Given the description of an element on the screen output the (x, y) to click on. 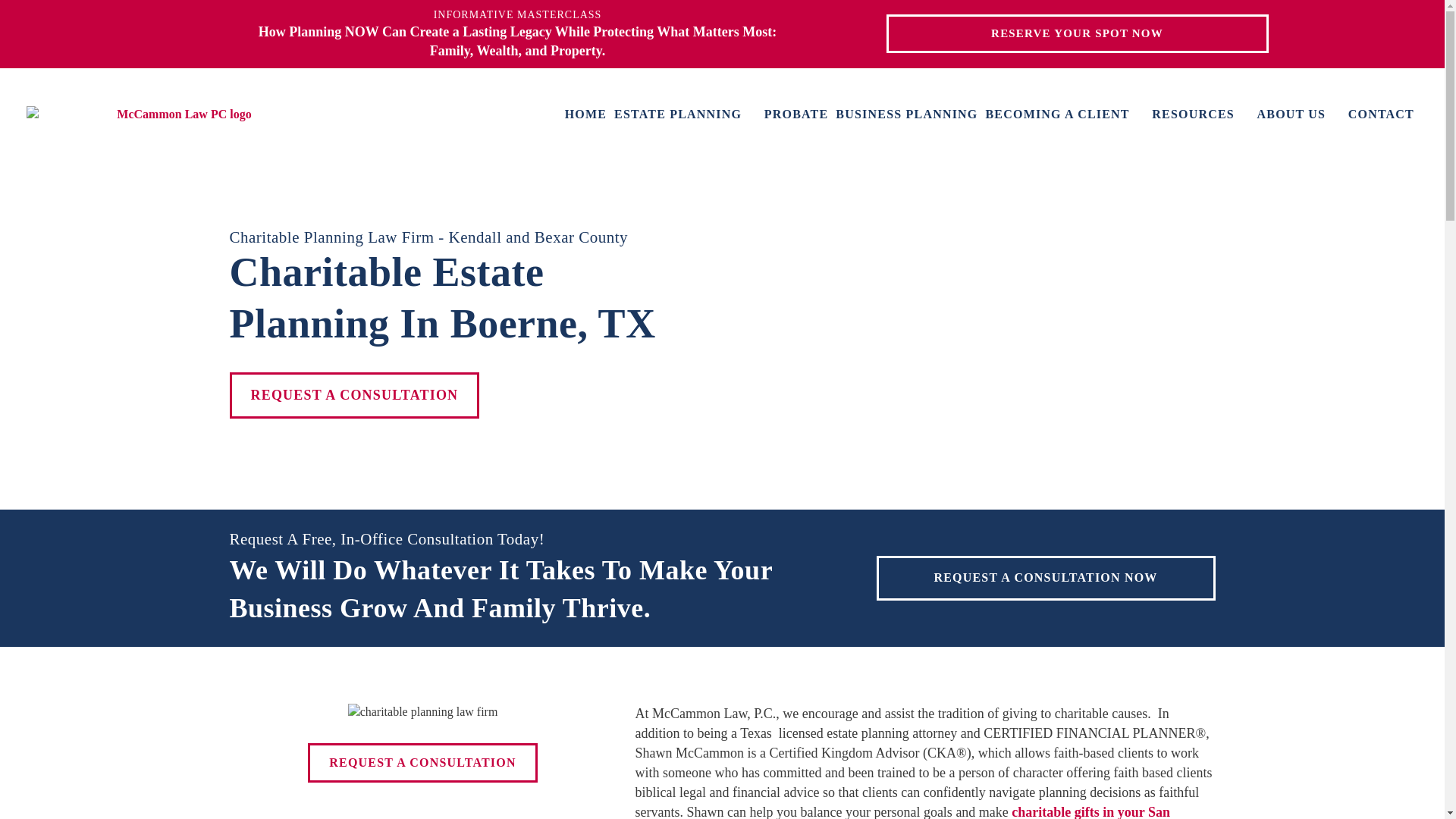
McCammon Law, P.C. (178, 114)
BECOMING A CLIENT (1064, 114)
HOME (585, 114)
ESTATE PLANNING (685, 114)
BUSINESS PLANNING (905, 114)
RESOURCES (1200, 114)
CONTACT (1380, 114)
PROBATE (796, 114)
ABOUT US (1298, 114)
RESERVE YOUR SPOT NOW (1076, 33)
